Given the description of an element on the screen output the (x, y) to click on. 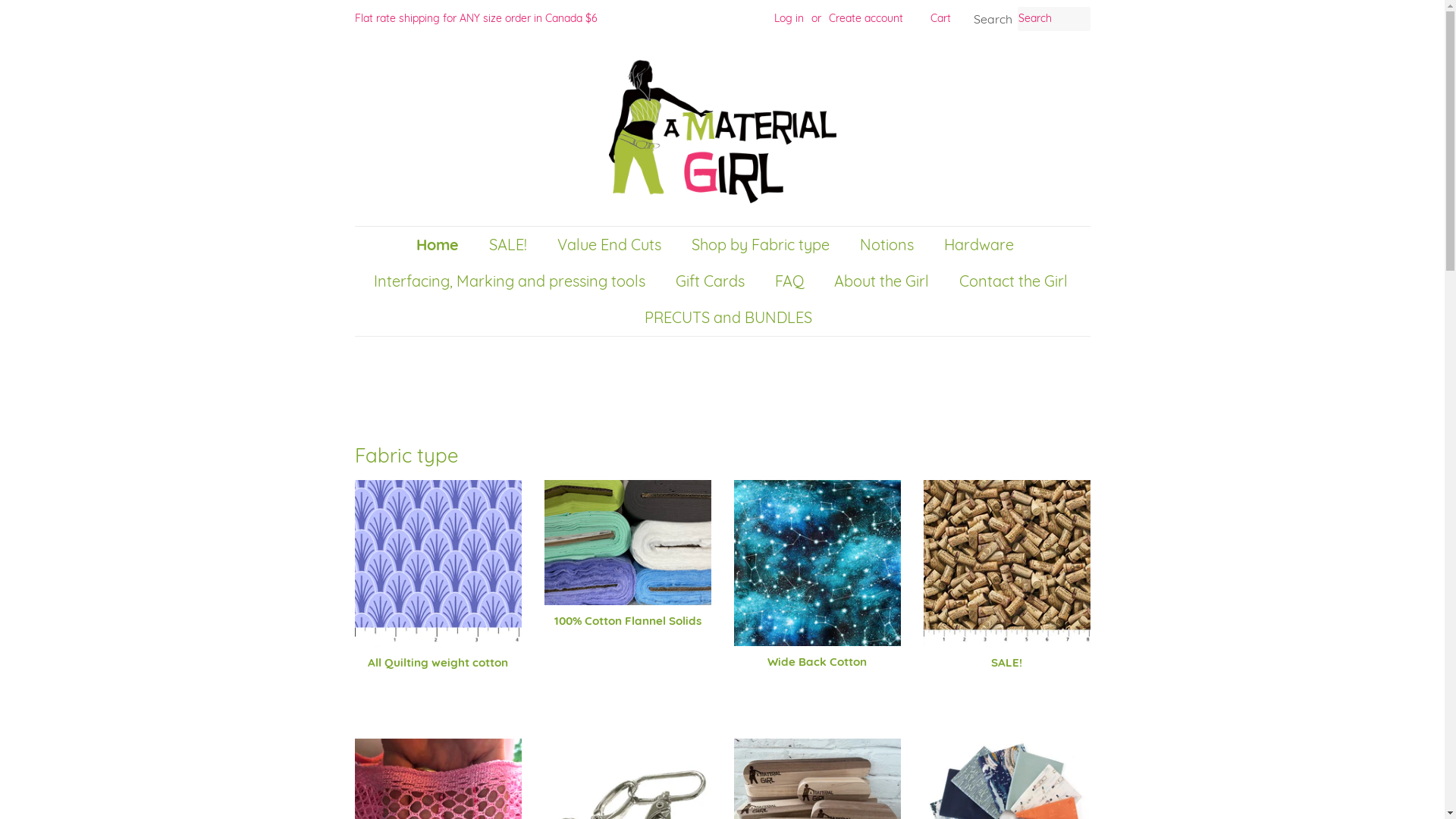
Value End Cuts Element type: text (611, 244)
PRECUTS and BUNDLES Element type: text (721, 317)
Wide Back Cotton Element type: text (817, 588)
Shop by Fabric type Element type: text (761, 244)
Gift Cards Element type: text (711, 281)
Search Element type: text (993, 18)
Hardware Element type: text (980, 244)
Contact the Girl Element type: text (1014, 281)
SALE! Element type: text (1006, 588)
Log in Element type: text (788, 18)
Cart Element type: text (939, 18)
SALE! Element type: text (509, 244)
Home Element type: text (444, 244)
About the Girl Element type: text (882, 281)
All Quilting weight cotton Element type: text (437, 588)
Notions Element type: text (887, 244)
Interfacing, Marking and pressing tools Element type: text (511, 281)
Create account Element type: text (865, 18)
FAQ Element type: text (790, 281)
100% Cotton Flannel Solids Element type: text (627, 567)
